Given the description of an element on the screen output the (x, y) to click on. 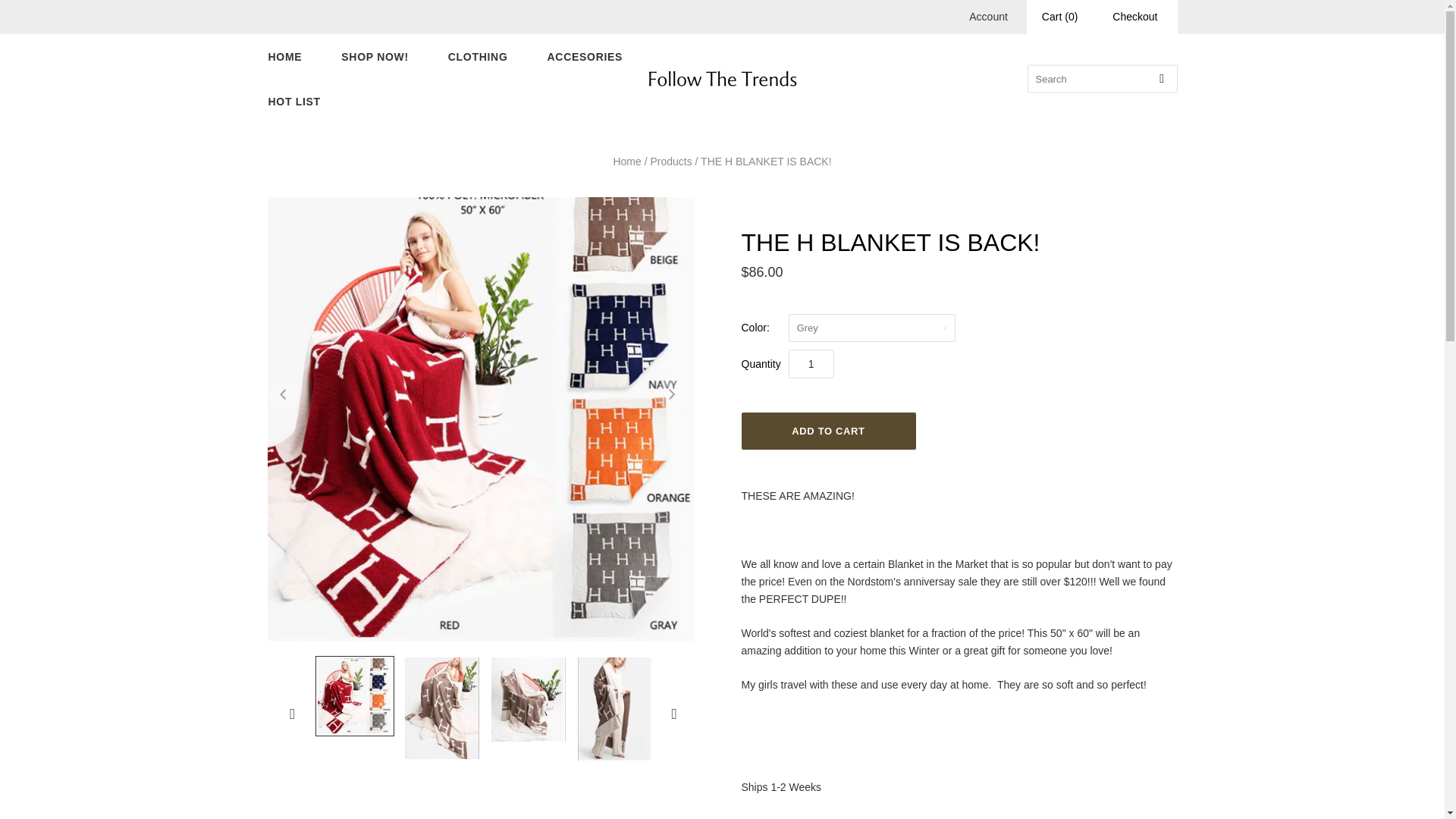
Add to cart (828, 430)
Home (626, 161)
1 (811, 363)
Account (988, 16)
HOME (284, 57)
SHOP NOW! (374, 57)
Checkout (1134, 16)
Add to cart (828, 430)
Products (670, 161)
CLOTHING (477, 57)
